Given the description of an element on the screen output the (x, y) to click on. 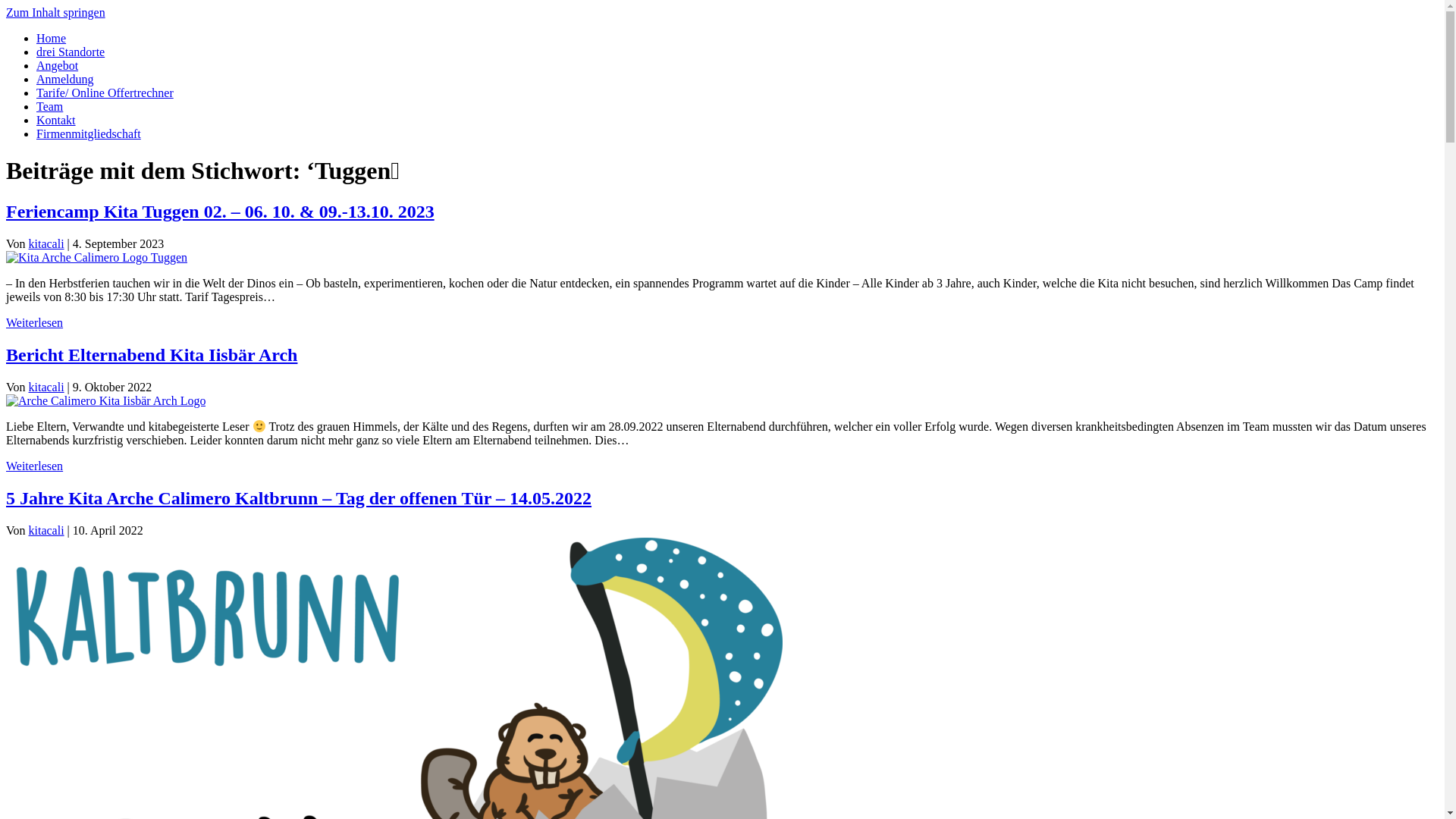
kitacali Element type: text (46, 386)
kitacali Element type: text (46, 243)
Tarife/ Online Offertrechner Element type: text (104, 92)
Home Element type: text (50, 37)
Firmenmitgliedschaft Element type: text (88, 133)
Anmeldung Element type: text (65, 78)
Kontakt Element type: text (55, 119)
kitacali Element type: text (46, 530)
Zum Inhalt springen Element type: text (55, 12)
Weiterlesen Element type: text (34, 465)
Angebot Element type: text (57, 65)
drei Standorte Element type: text (70, 51)
Weiterlesen Element type: text (34, 322)
Team Element type: text (49, 106)
